Given the description of an element on the screen output the (x, y) to click on. 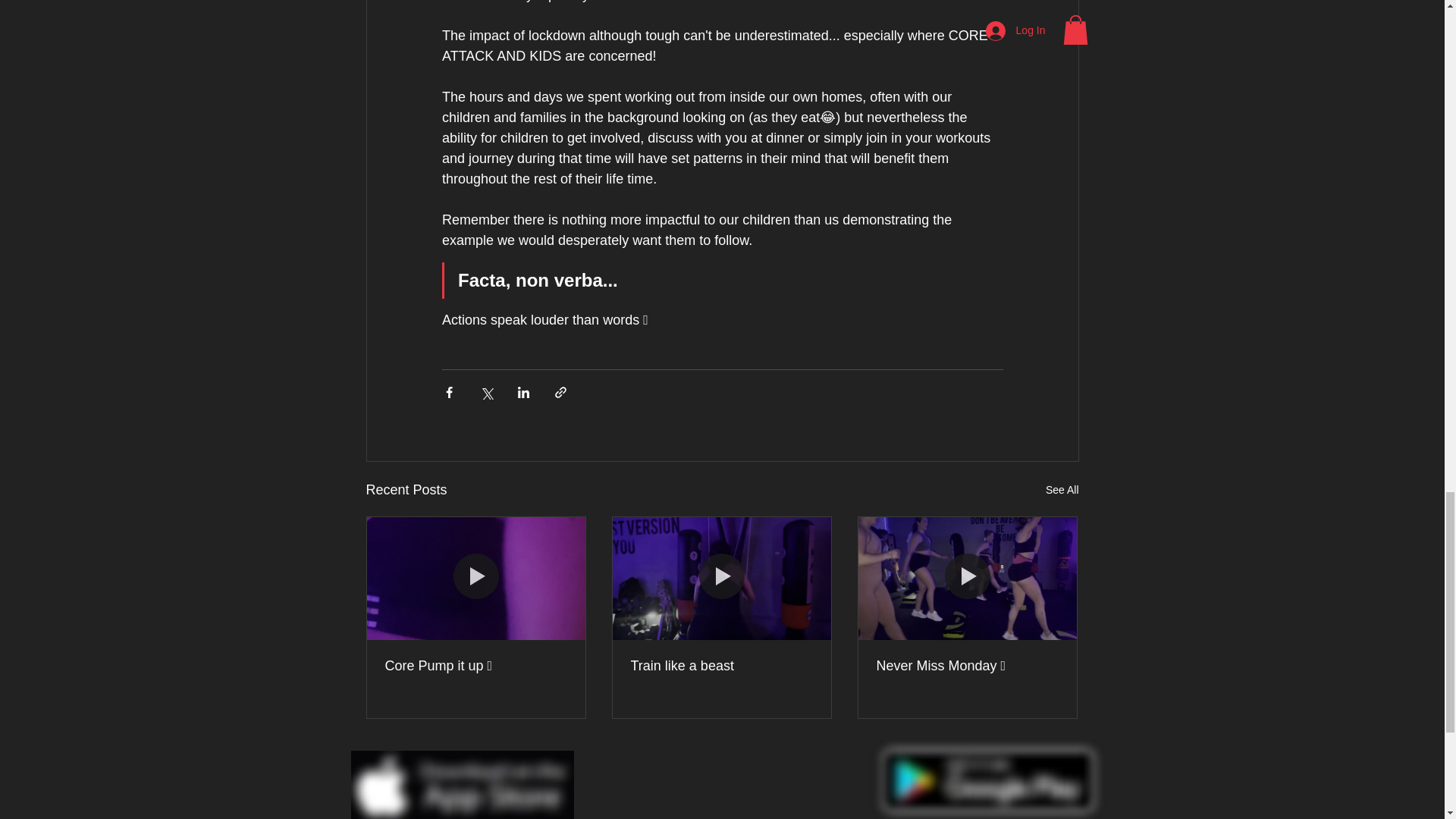
Train like a beast (721, 666)
See All (1061, 490)
